Given the description of an element on the screen output the (x, y) to click on. 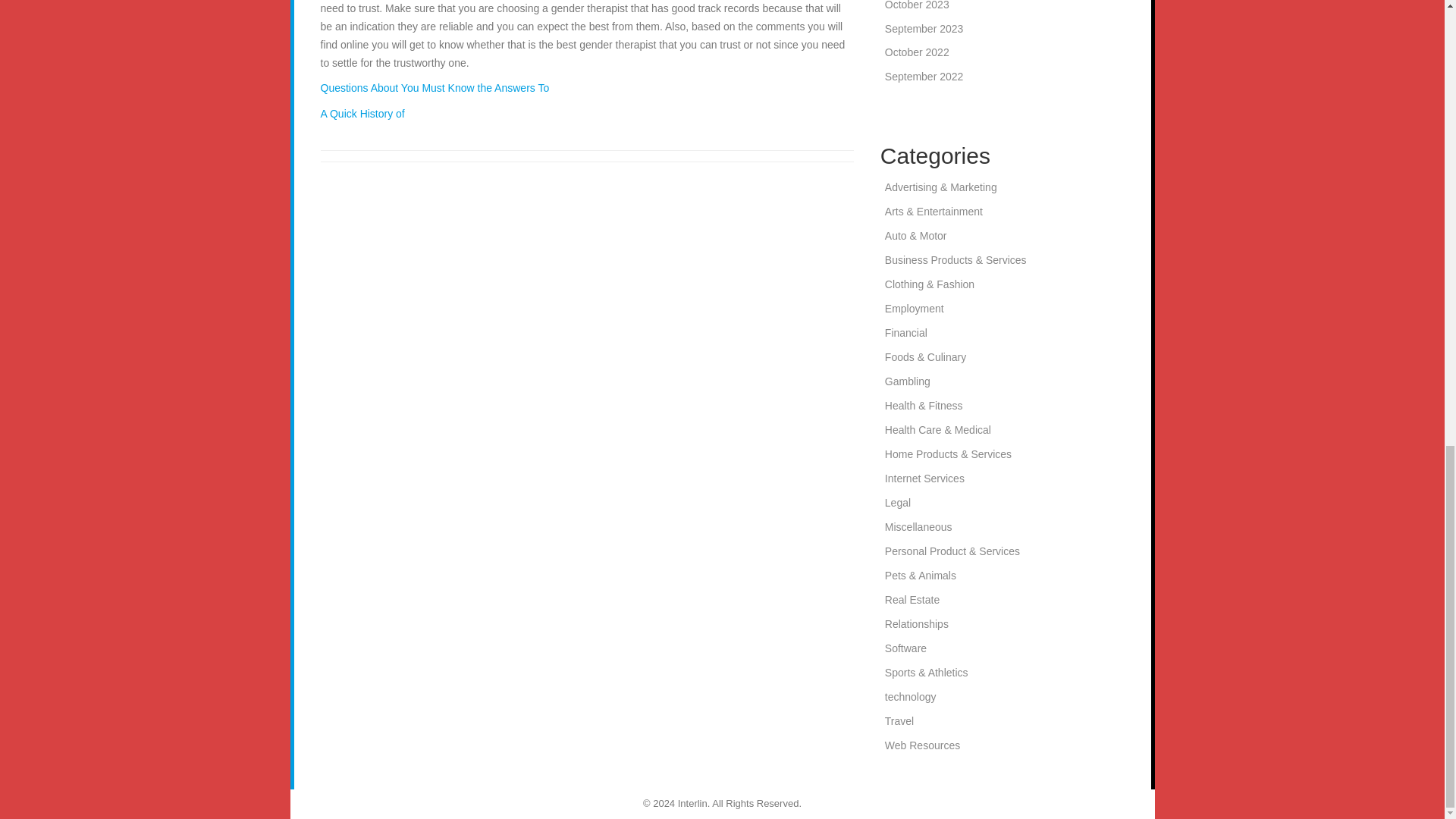
October 2022 (917, 51)
Questions About You Must Know the Answers To (434, 87)
Financial (906, 332)
September 2022 (924, 76)
Gambling (907, 381)
September 2023 (924, 28)
A Quick History of (362, 113)
Employment (914, 308)
October 2023 (917, 5)
